Given the description of an element on the screen output the (x, y) to click on. 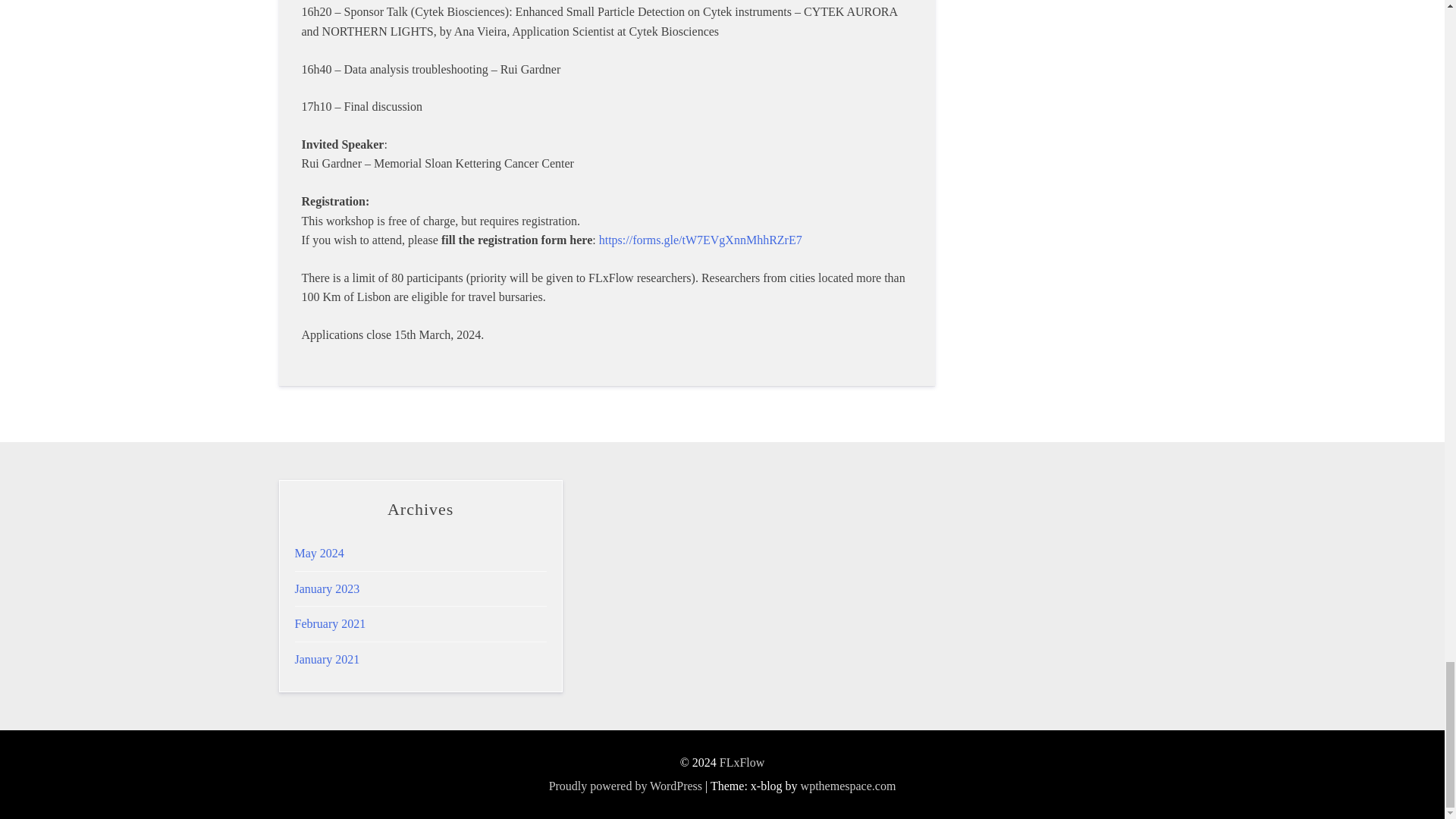
February 2021 (329, 623)
May 2024 (318, 553)
January 2023 (326, 588)
January 2021 (326, 658)
